Given the description of an element on the screen output the (x, y) to click on. 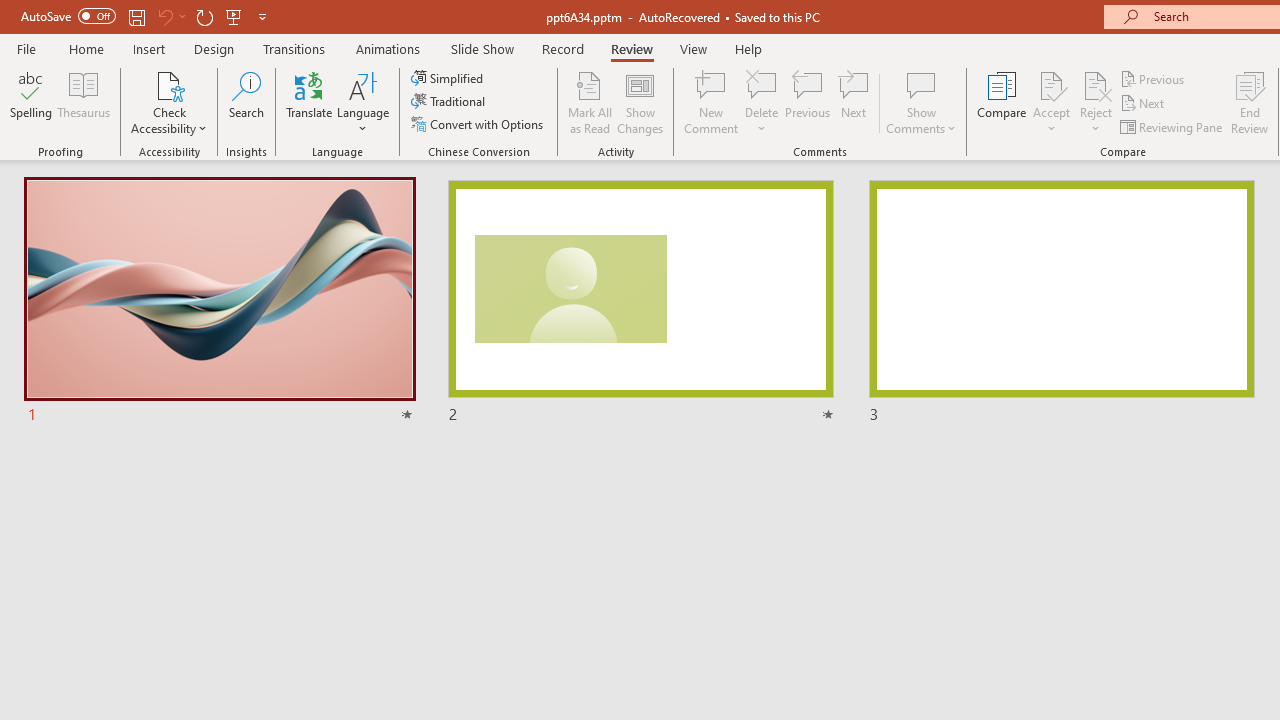
Check Accessibility (169, 84)
Show Comments (921, 102)
Delete (762, 84)
Search (246, 102)
